Given the description of an element on the screen output the (x, y) to click on. 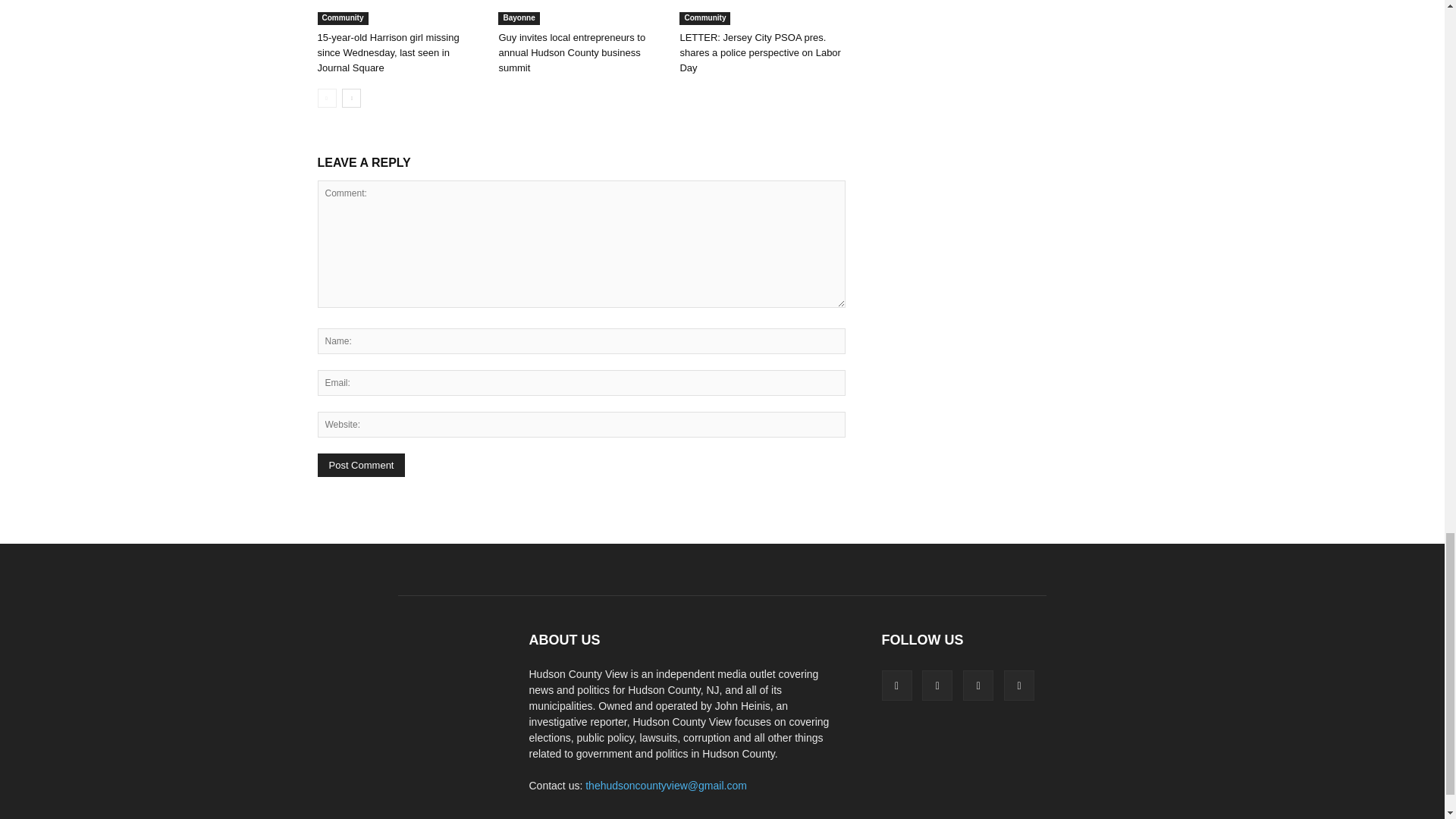
Post Comment (360, 464)
